Given the description of an element on the screen output the (x, y) to click on. 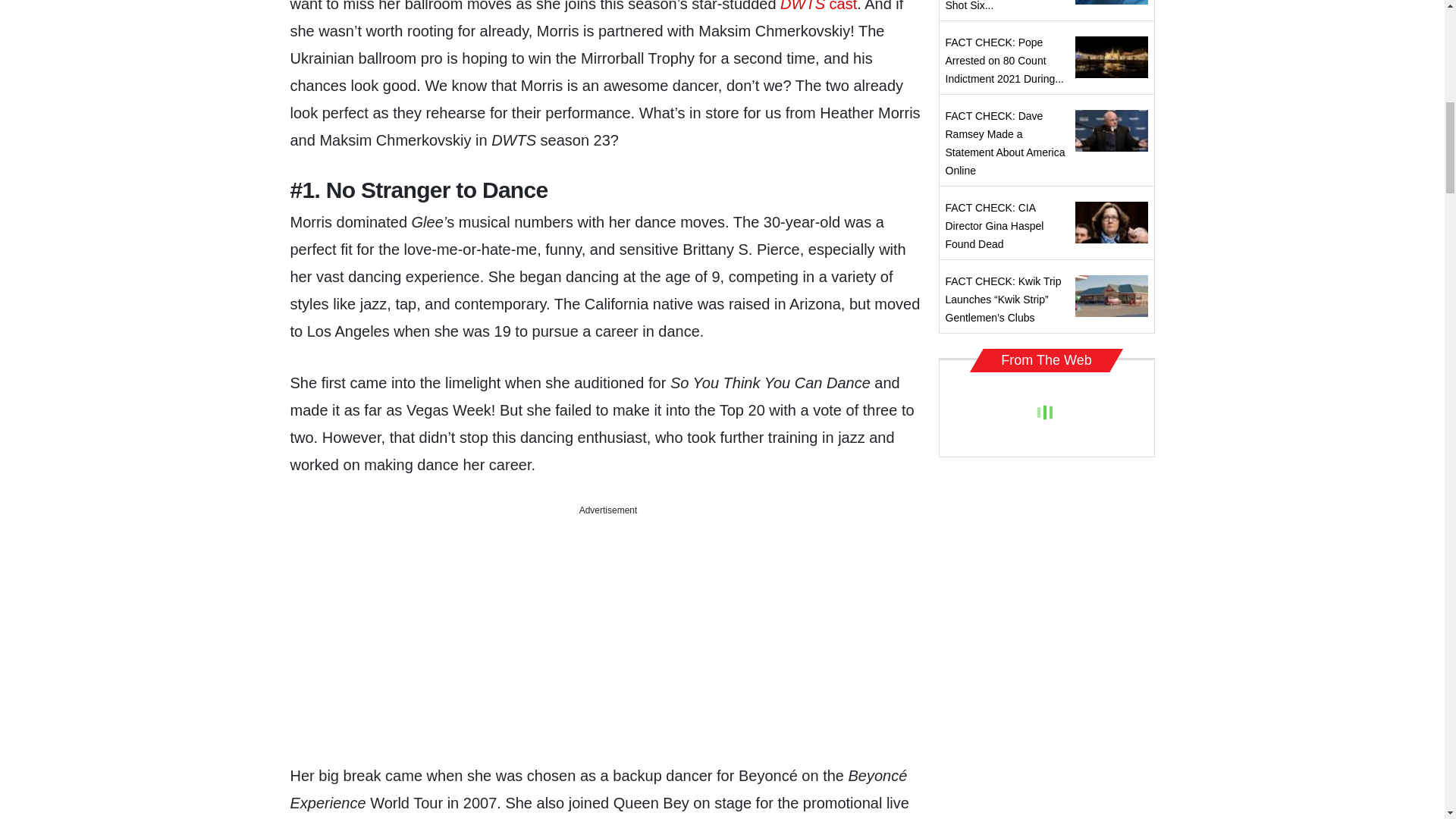
DWTS cast (818, 6)
